Given the description of an element on the screen output the (x, y) to click on. 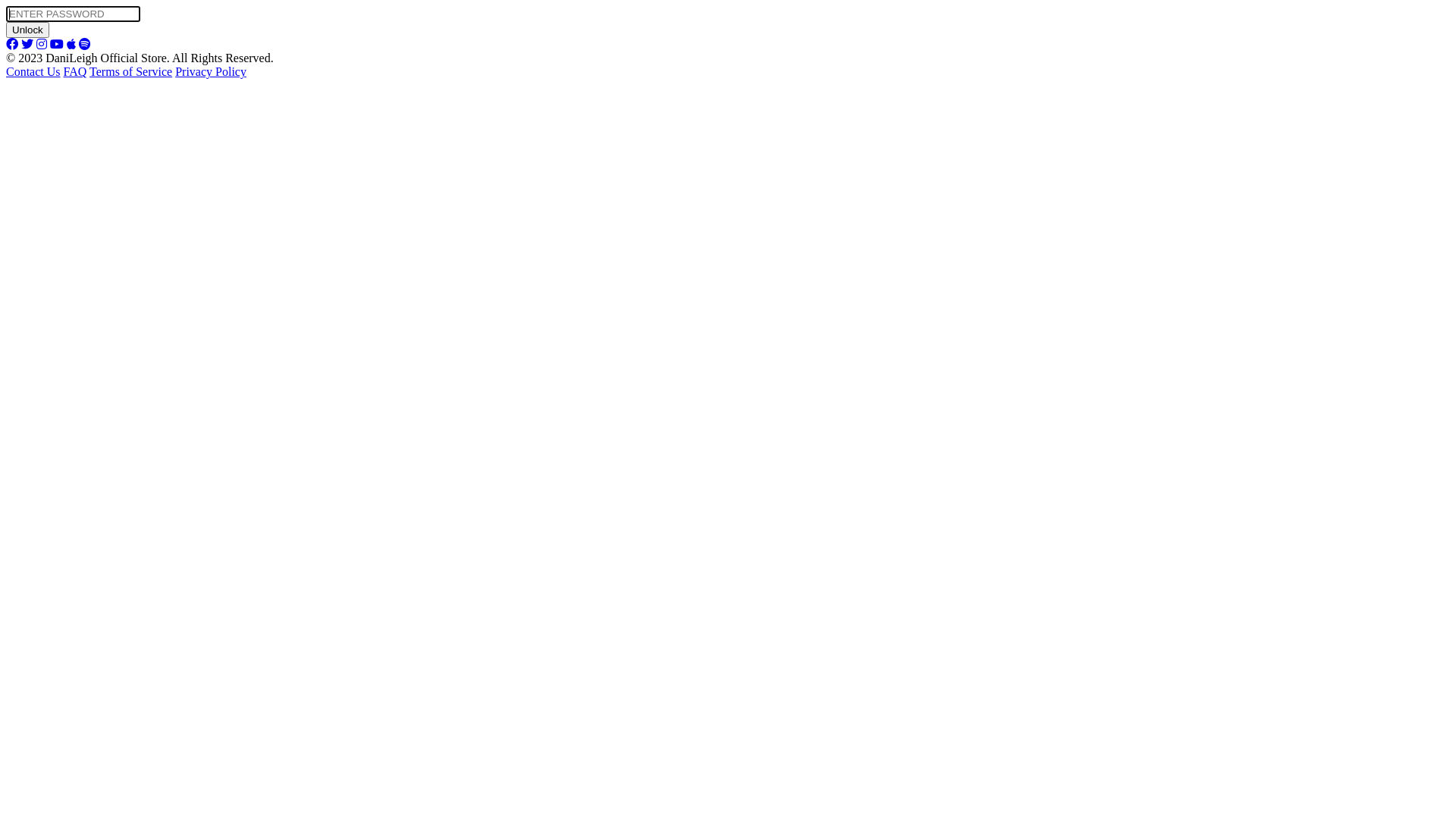
Terms of Service Element type: text (130, 71)
Unlock Element type: text (27, 29)
FAQ Element type: text (75, 71)
Privacy Policy Element type: text (210, 71)
Contact Us Element type: text (33, 71)
